Given the description of an element on the screen output the (x, y) to click on. 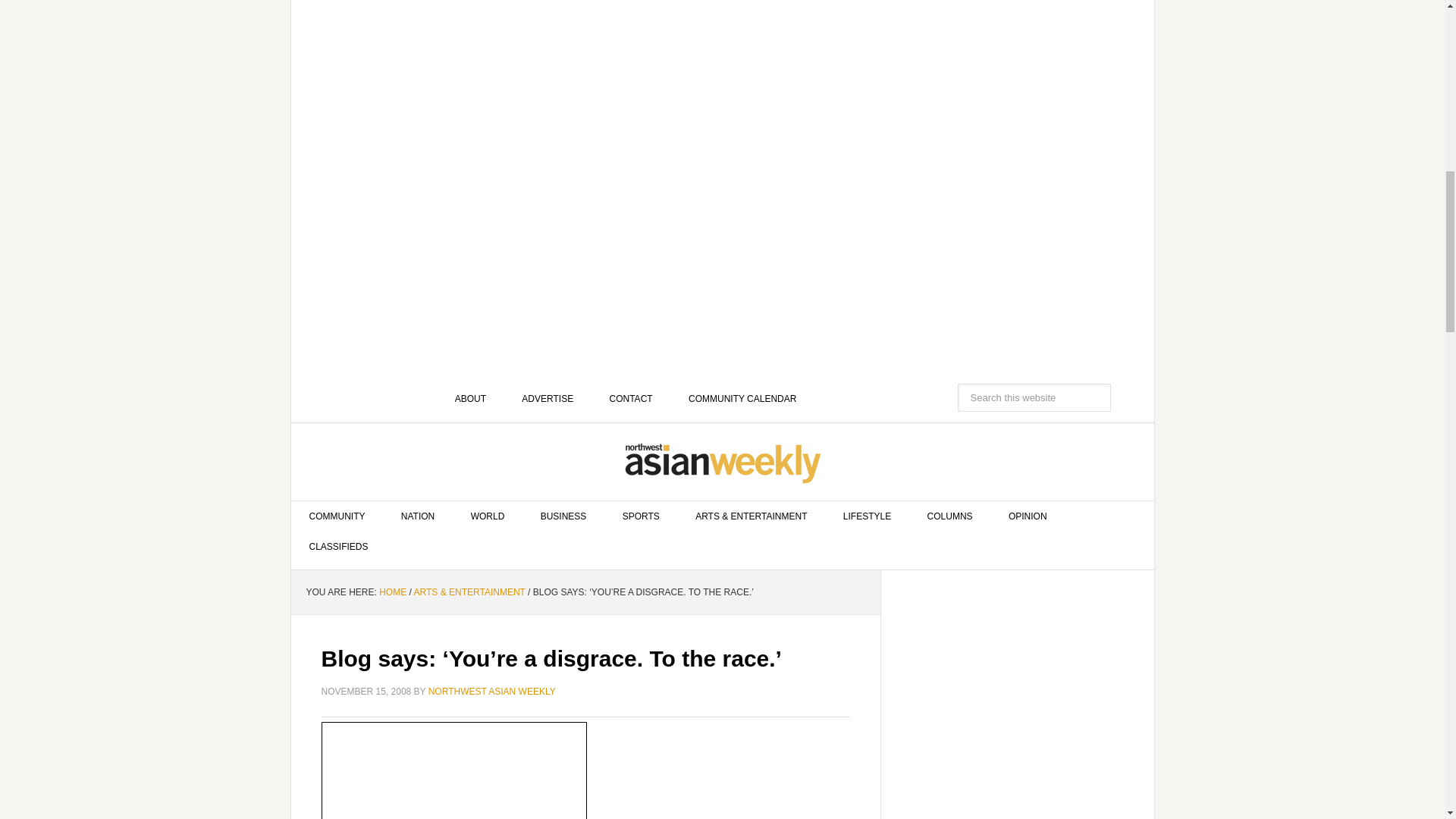
COMMUNITY CALENDAR (741, 399)
NORTHWEST ASIAN WEEKLY (722, 461)
ABOUT (469, 399)
OPINION (1027, 516)
LIFESTYLE (866, 516)
SPORTS (641, 516)
COMMUNITY (337, 516)
